Given the description of an element on the screen output the (x, y) to click on. 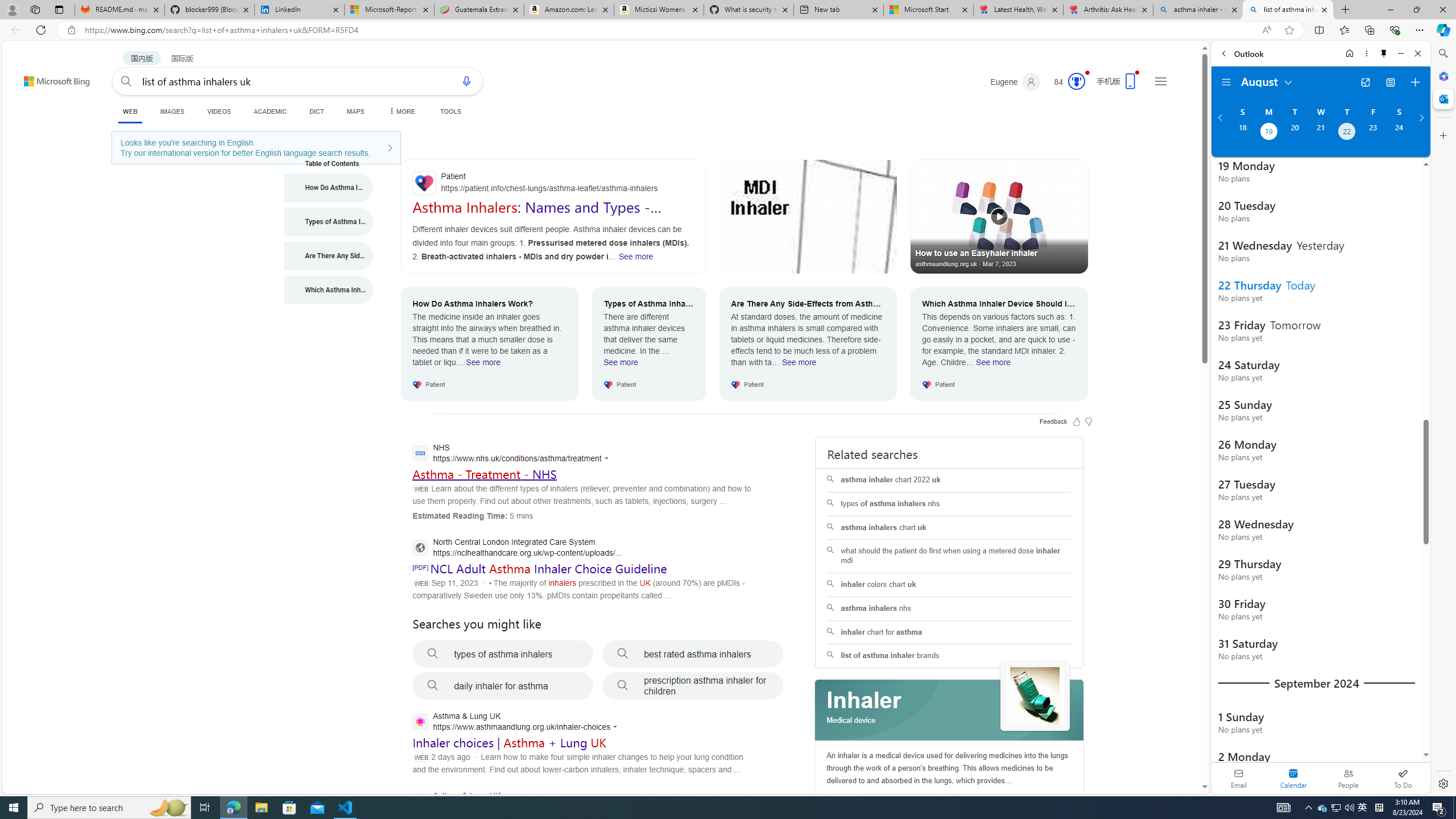
daily inhaler for asthma (503, 685)
Back to Bing search (50, 78)
ACADEMIC (269, 111)
asthma inhaler chart 2022 uk (949, 480)
Friday, August 23, 2024.  (1372, 132)
list of asthma inhaler brands (949, 656)
types of asthma inhalers (503, 653)
asthma inhaler - Search (1197, 9)
Wednesday, August 21, 2024.  (1320, 132)
